Given the description of an element on the screen output the (x, y) to click on. 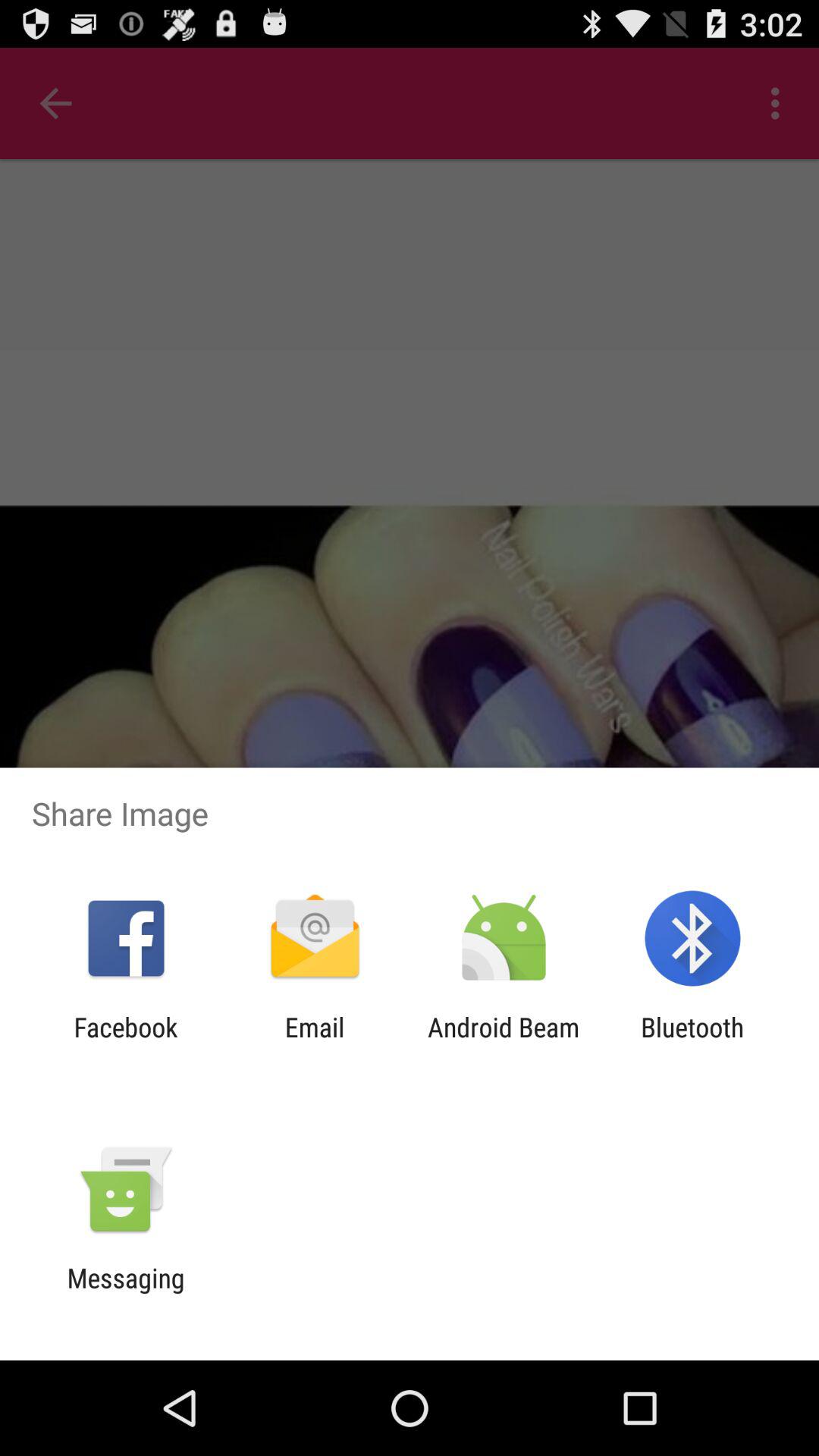
press app next to the bluetooth app (503, 1042)
